Given the description of an element on the screen output the (x, y) to click on. 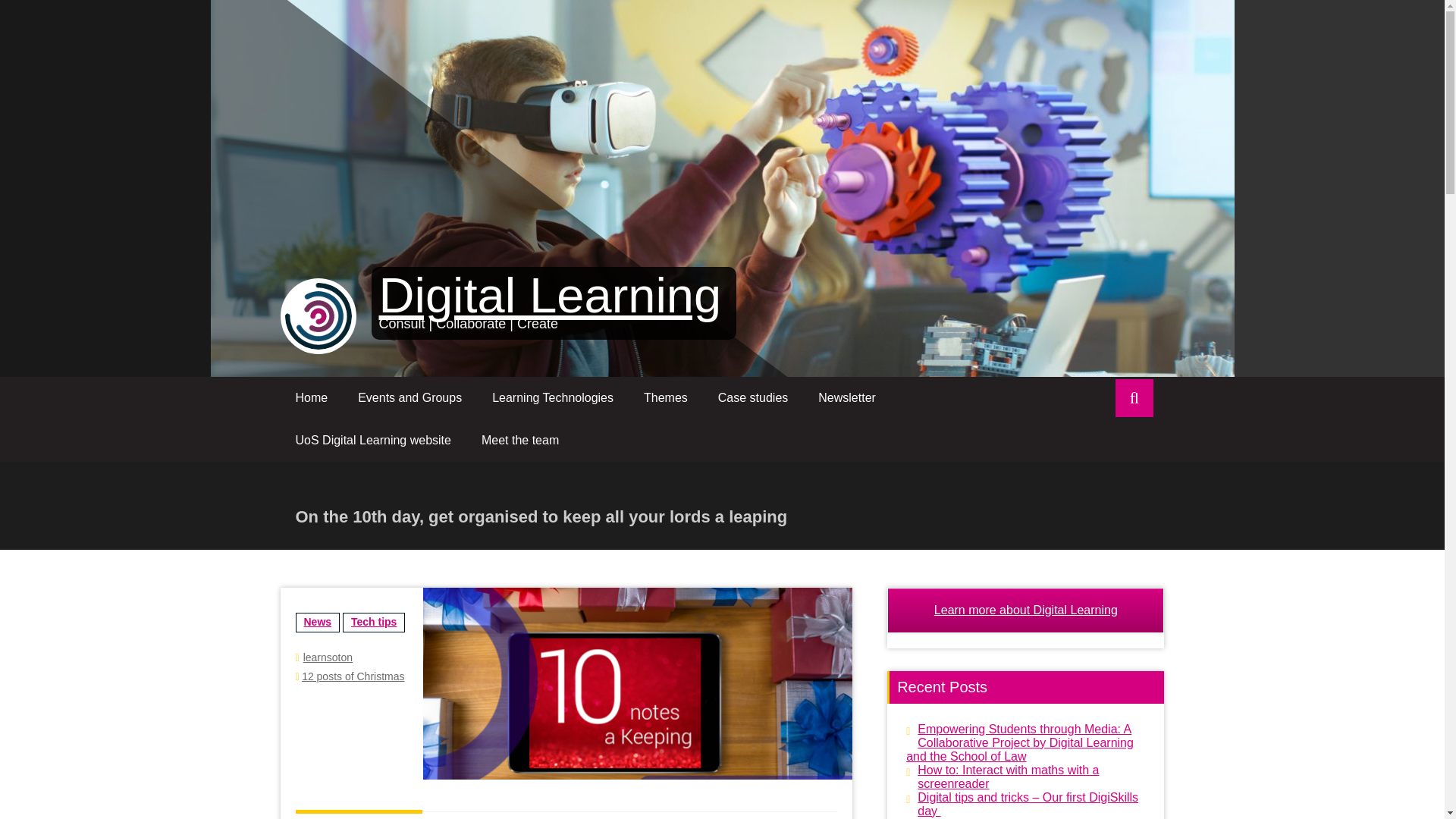
Learning Technologies (552, 397)
Events and Groups (409, 397)
learnsoton (327, 657)
Tech tips (373, 622)
News (317, 622)
UoS Digital Learning website (373, 440)
Newsletter (847, 397)
Themes (665, 397)
Case studies (753, 397)
Meet the team (519, 440)
